Given the description of an element on the screen output the (x, y) to click on. 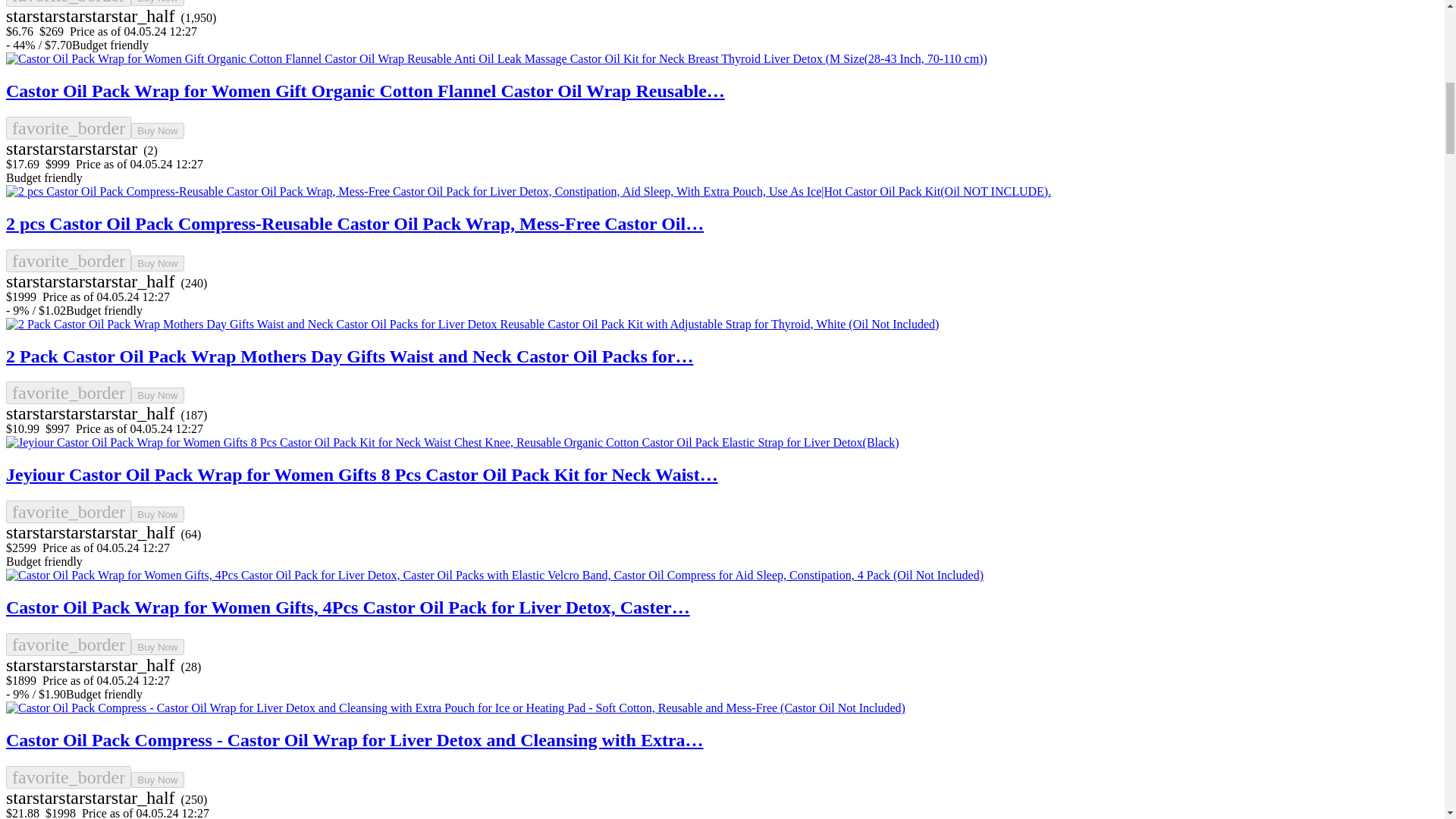
Buy Now (157, 130)
Buy Now (157, 395)
Buy Now (157, 263)
Buy Now (157, 2)
